Given the description of an element on the screen output the (x, y) to click on. 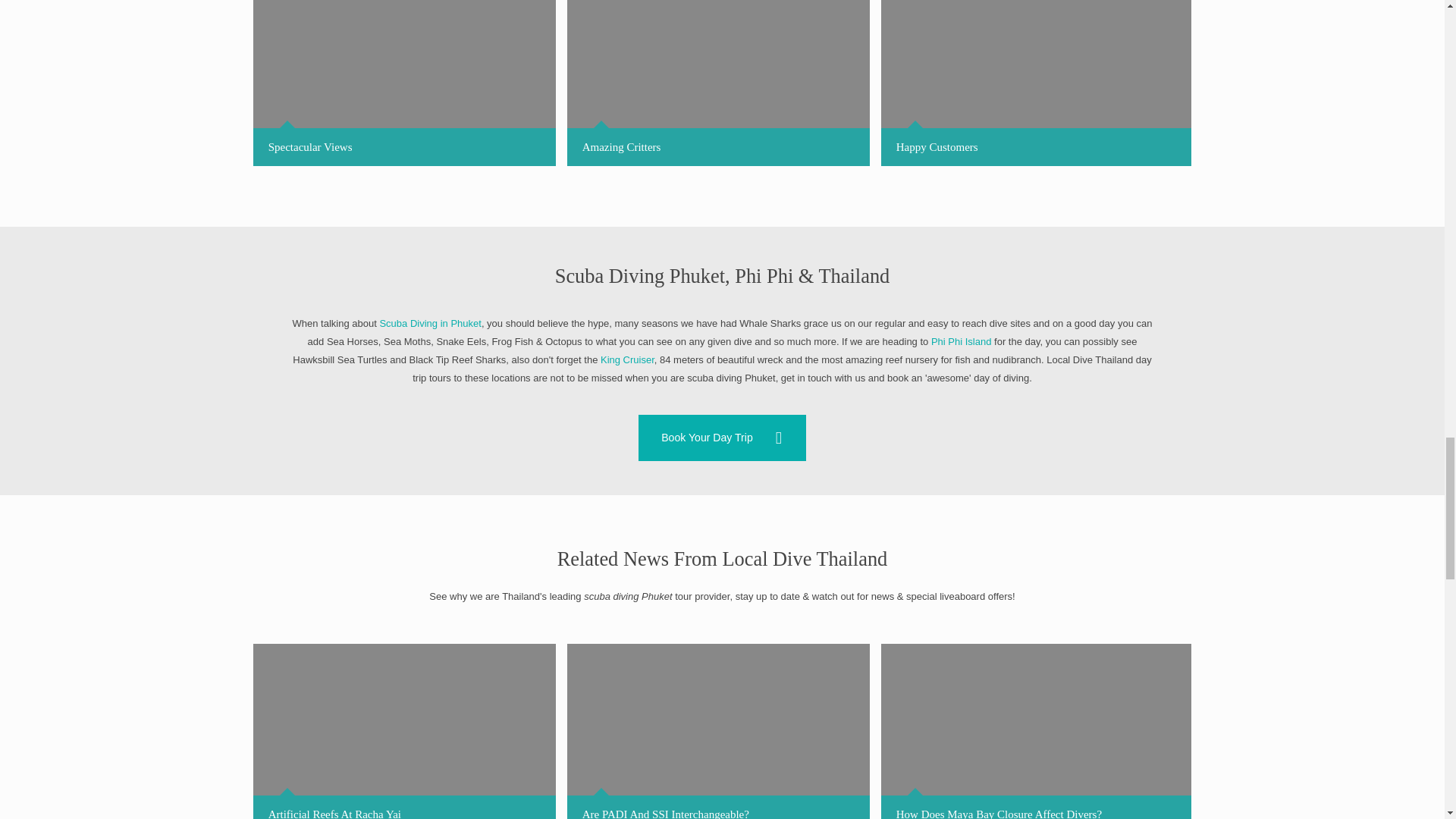
Pictures of Phuket's amazing island scenery (404, 83)
